Given the description of an element on the screen output the (x, y) to click on. 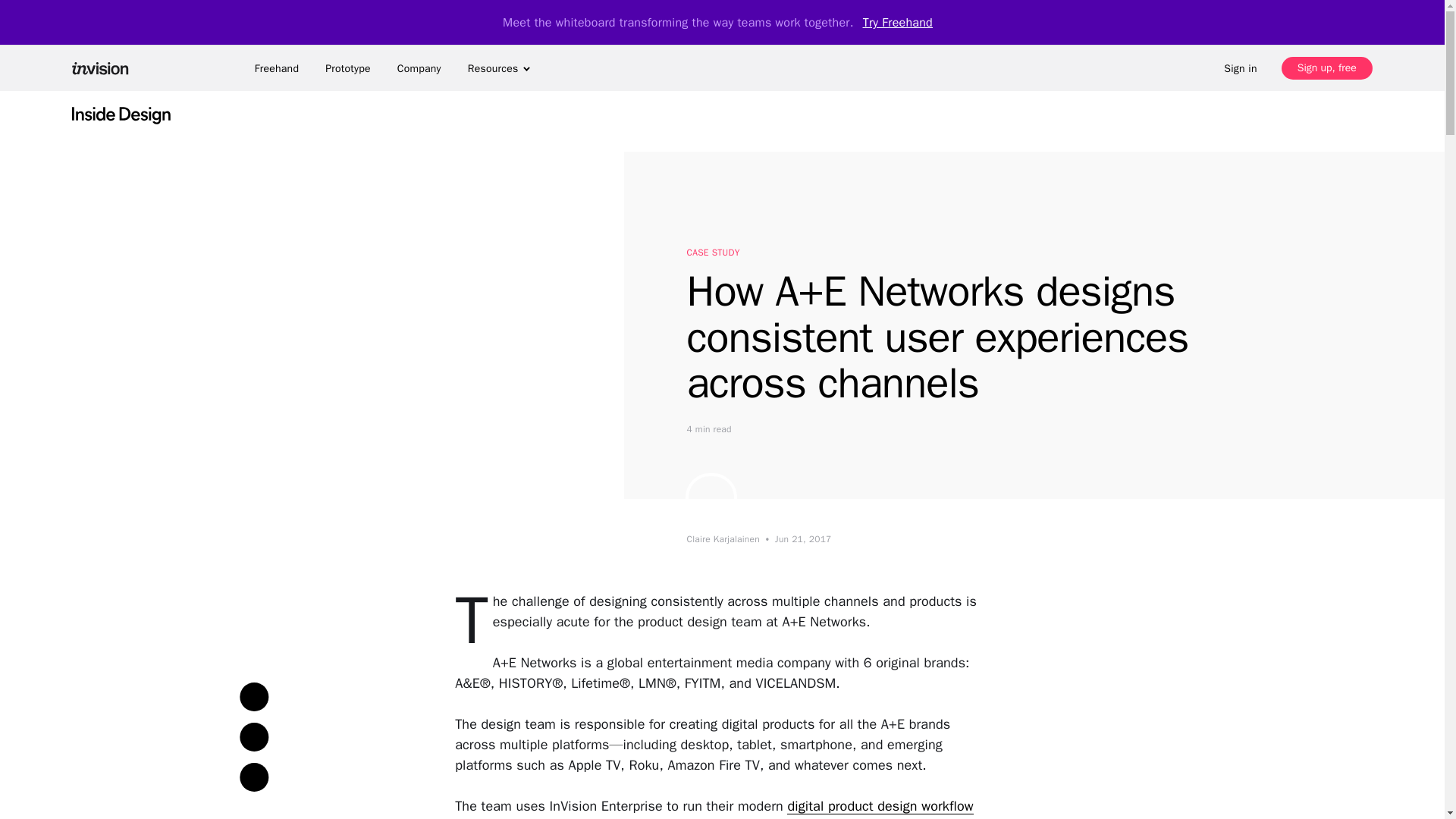
Freehand (276, 67)
Company (419, 67)
invisionapp, inc. (105, 67)
freehand (276, 67)
InVisionApp, Inc. (105, 67)
Prototype (347, 67)
Inside Design (120, 113)
resources (499, 67)
company (419, 67)
Try Freehand (897, 22)
